Given the description of an element on the screen output the (x, y) to click on. 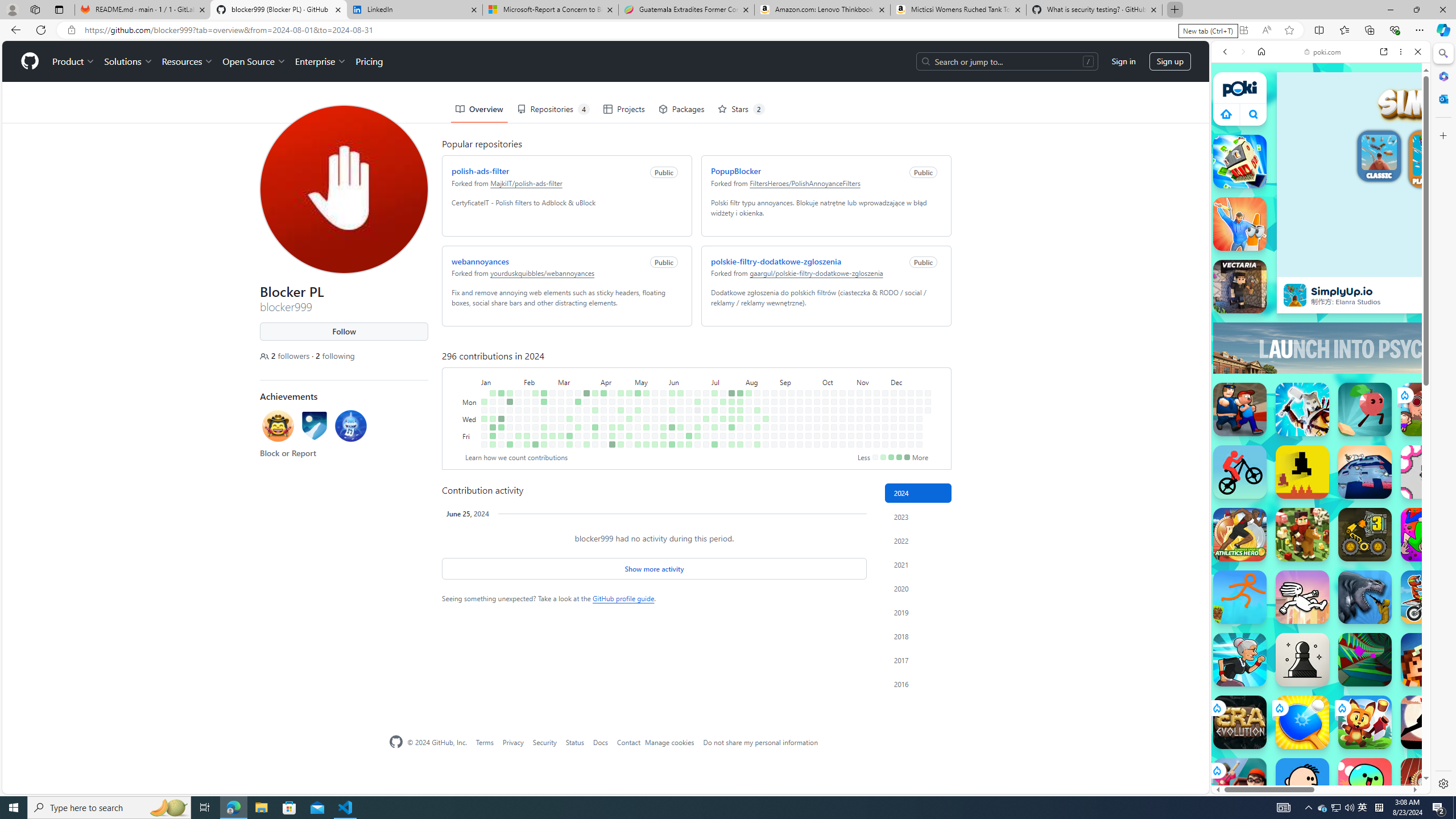
No contributions on December 26th. (919, 427)
No contributions on January 16th. (500, 410)
No contributions on December 17th. (910, 410)
Angry Gran Run (1239, 659)
No contributions on October 4th. (816, 435)
Eat the world Eat the world (1427, 409)
No contributions on January 5th. (483, 435)
No contributions on May 27th. (663, 401)
Terms (484, 741)
No contributions on November 26th. (885, 410)
Web scope (1230, 102)
Angry Gran Run Angry Gran Run (1239, 659)
Contribution activity in 2021 (917, 564)
No contributions on November 17th. (876, 392)
